Given the description of an element on the screen output the (x, y) to click on. 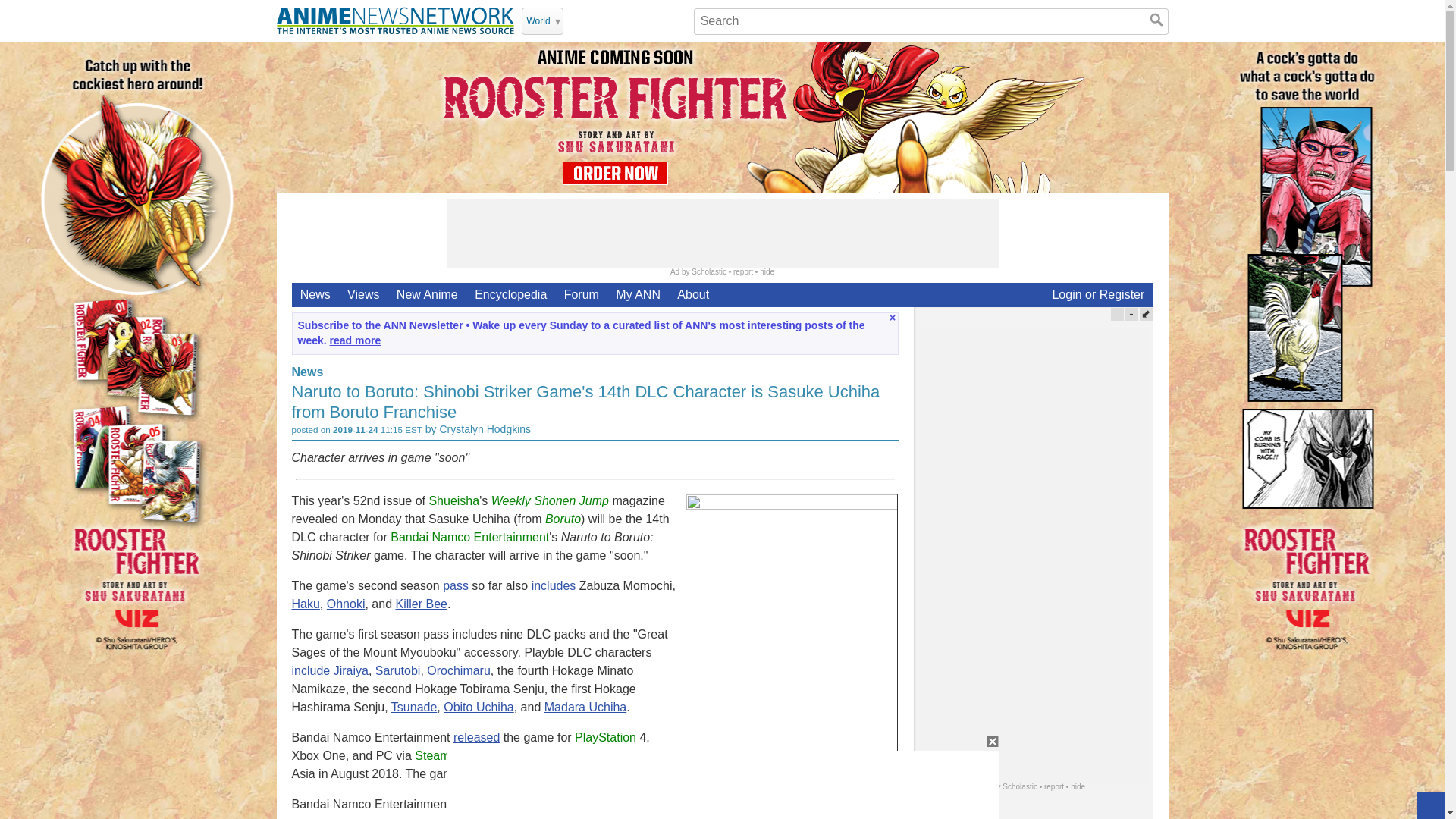
TikTok (656, 20)
Twitter (577, 20)
Bluesky (675, 20)
Return to Homepage (394, 20)
Facebook (617, 20)
Youtube (597, 20)
Instagram (636, 20)
Choose Your Edition (542, 21)
